Given the description of an element on the screen output the (x, y) to click on. 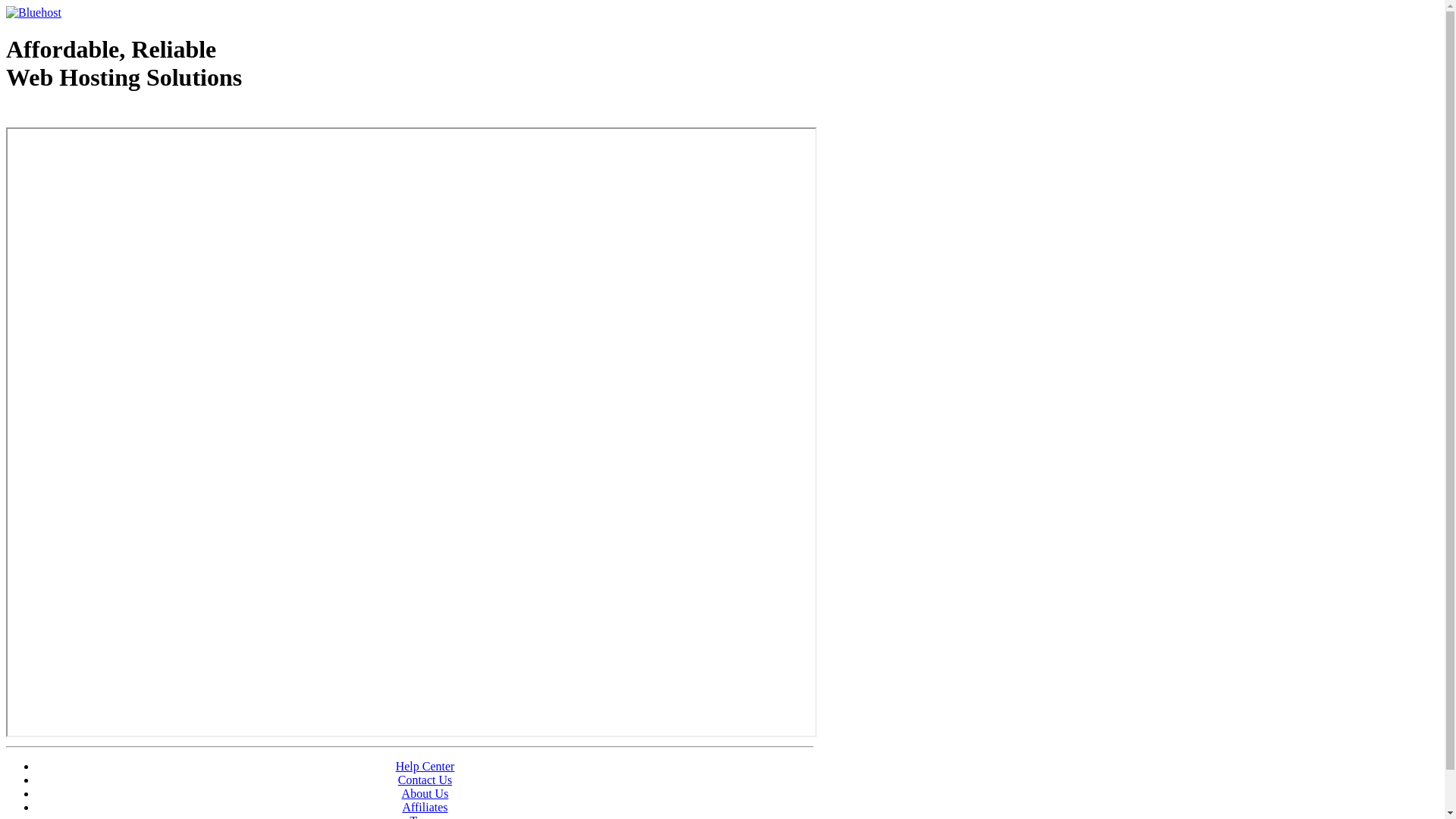
Contact Us Element type: text (425, 779)
Web Hosting - courtesy of www.bluehost.com Element type: text (94, 115)
Help Center Element type: text (425, 765)
About Us Element type: text (424, 793)
Affiliates Element type: text (424, 806)
